Given the description of an element on the screen output the (x, y) to click on. 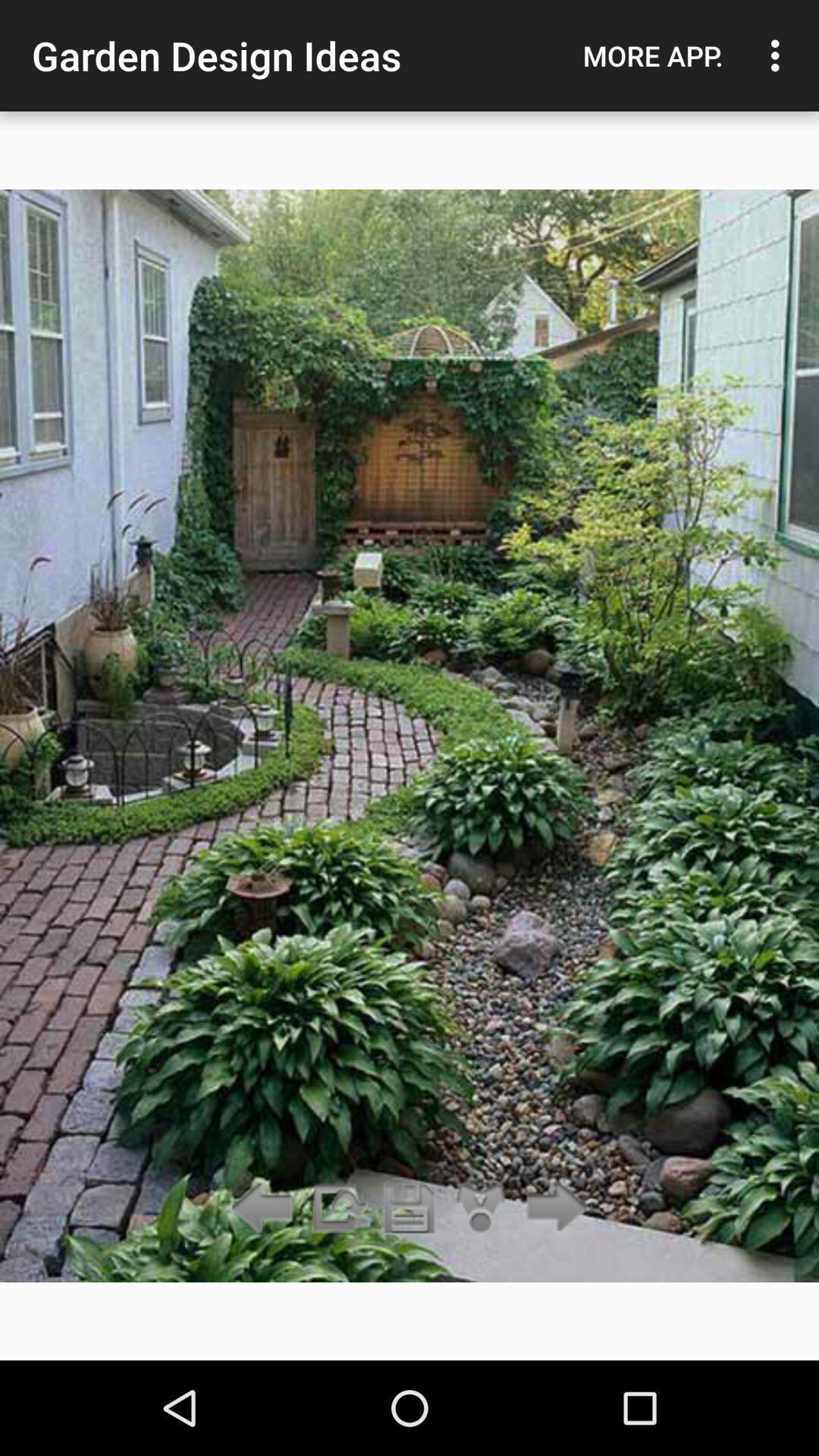
save (409, 1208)
